Given the description of an element on the screen output the (x, y) to click on. 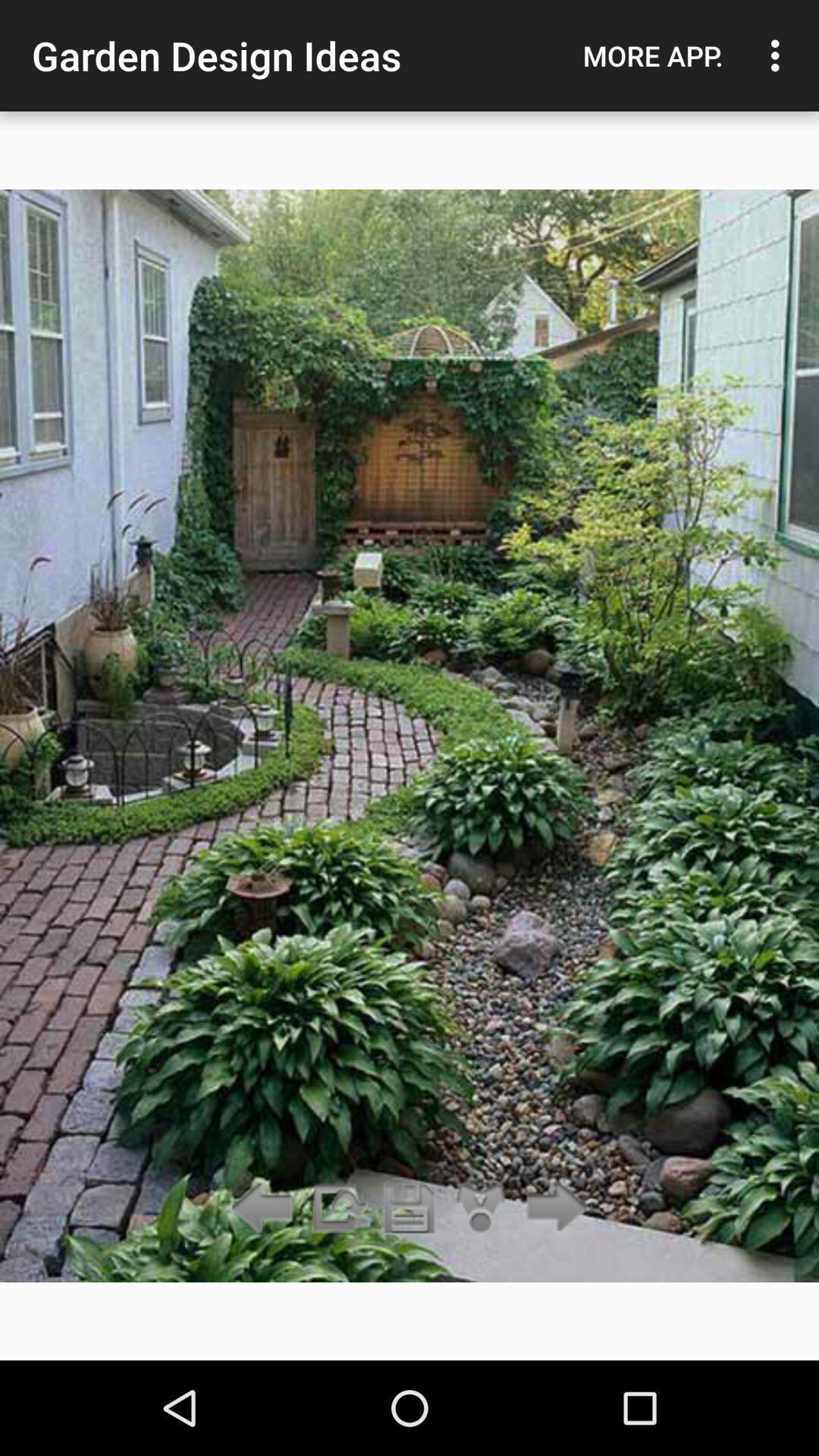
save (409, 1208)
